Given the description of an element on the screen output the (x, y) to click on. 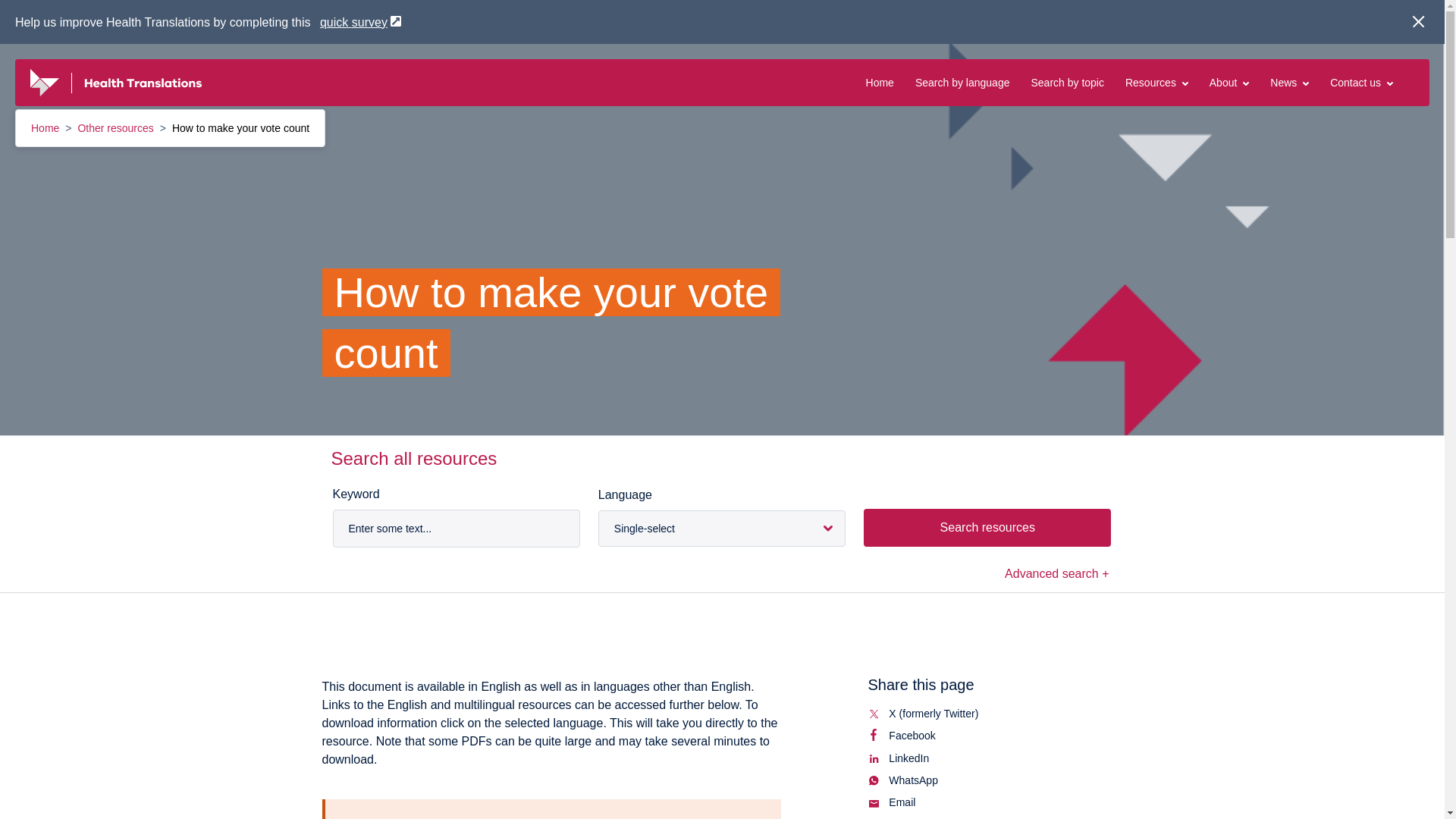
About (1229, 81)
Search by language (962, 81)
Resources (1156, 81)
quick surveyExternal Link (360, 21)
Home (879, 81)
Advanced search (1056, 573)
Other resources (116, 128)
Home (46, 128)
External Link (395, 20)
Search by topic (1066, 81)
News (1288, 81)
Search resources (986, 527)
Dismiss alert (1418, 21)
Contact us (1361, 81)
